Given the description of an element on the screen output the (x, y) to click on. 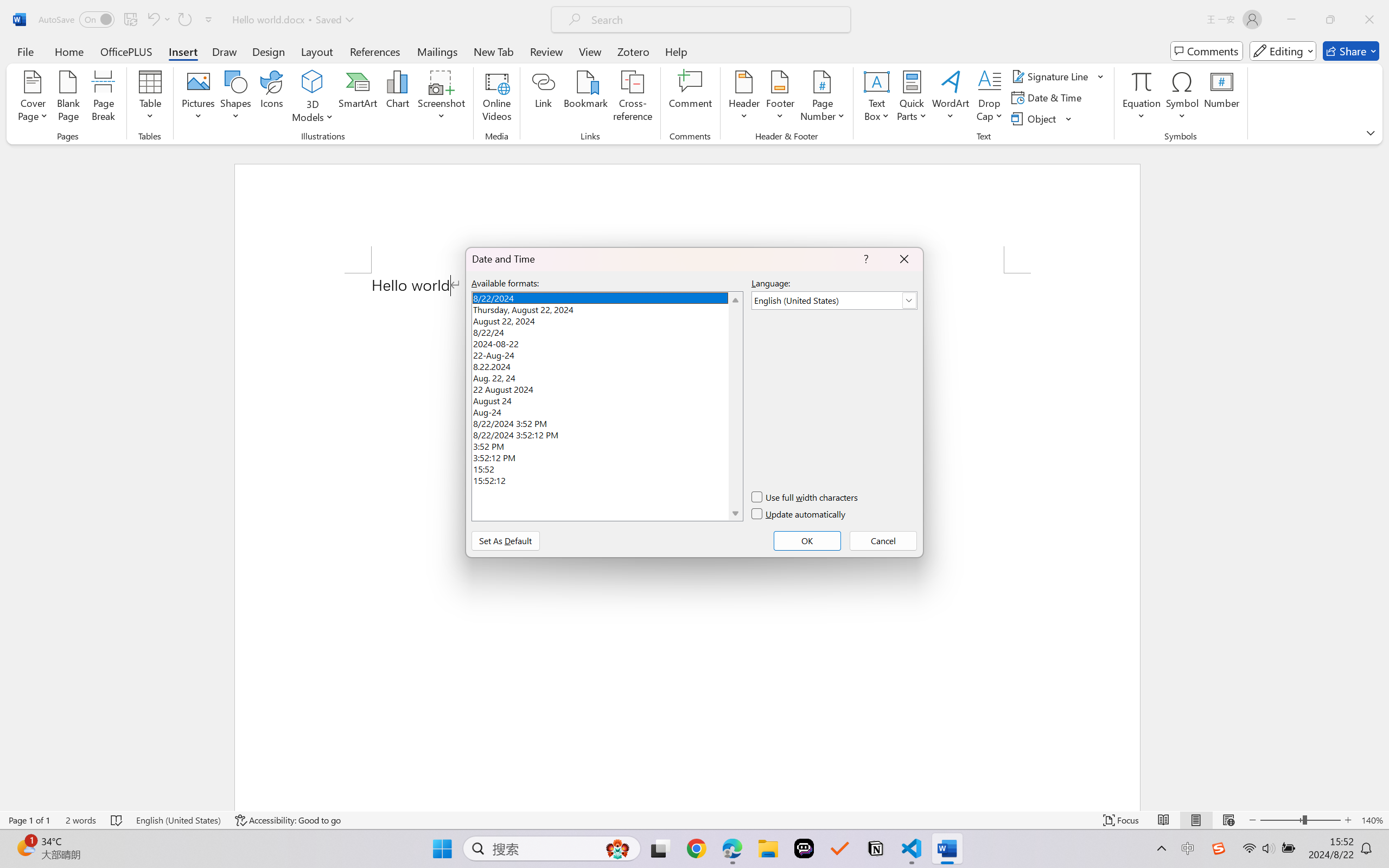
Home (69, 51)
Quick Access Toolbar (127, 19)
Print Layout (1196, 819)
3:52:12 PM (606, 455)
Can't Undo (152, 19)
Layout (316, 51)
22-Aug-24 (606, 353)
Pictures (198, 97)
Quick Parts (912, 97)
More Options (1141, 112)
